Given the description of an element on the screen output the (x, y) to click on. 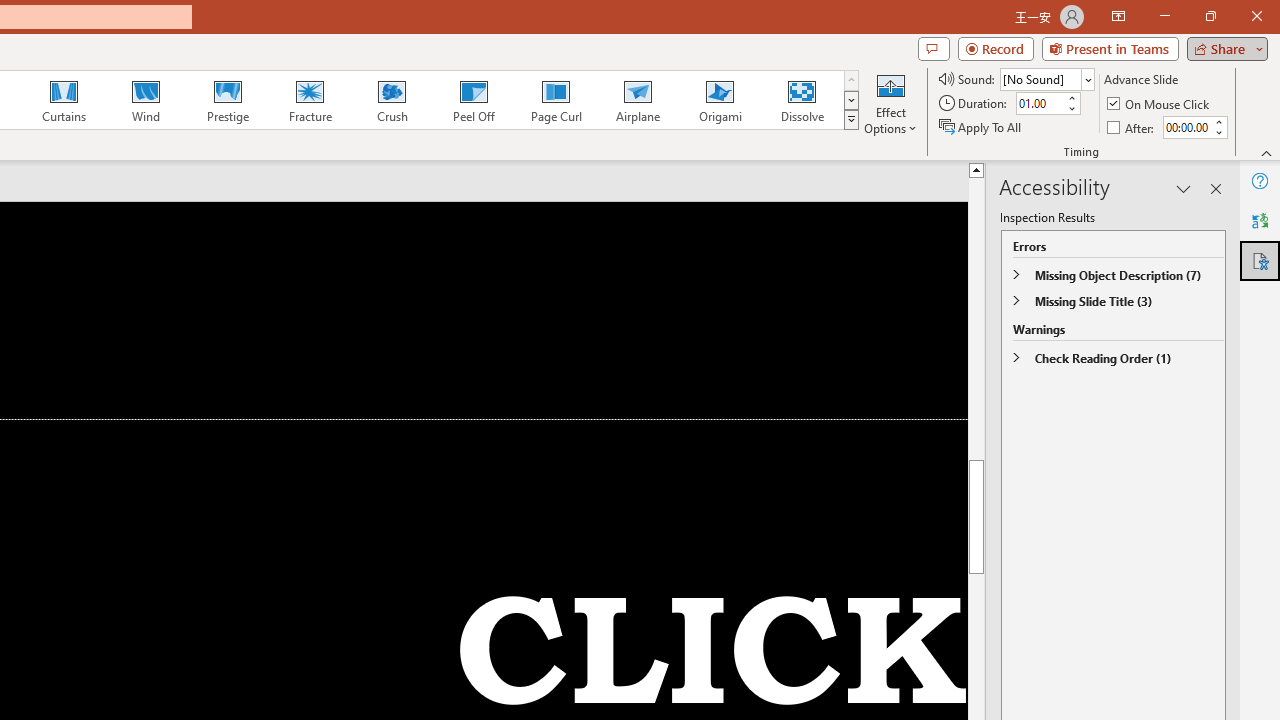
Origami (719, 100)
After (1186, 127)
Transition Effects (850, 120)
Effect Options (890, 102)
Wind (145, 100)
Duration (1039, 103)
Curtains (63, 100)
Crush (391, 100)
